Given the description of an element on the screen output the (x, y) to click on. 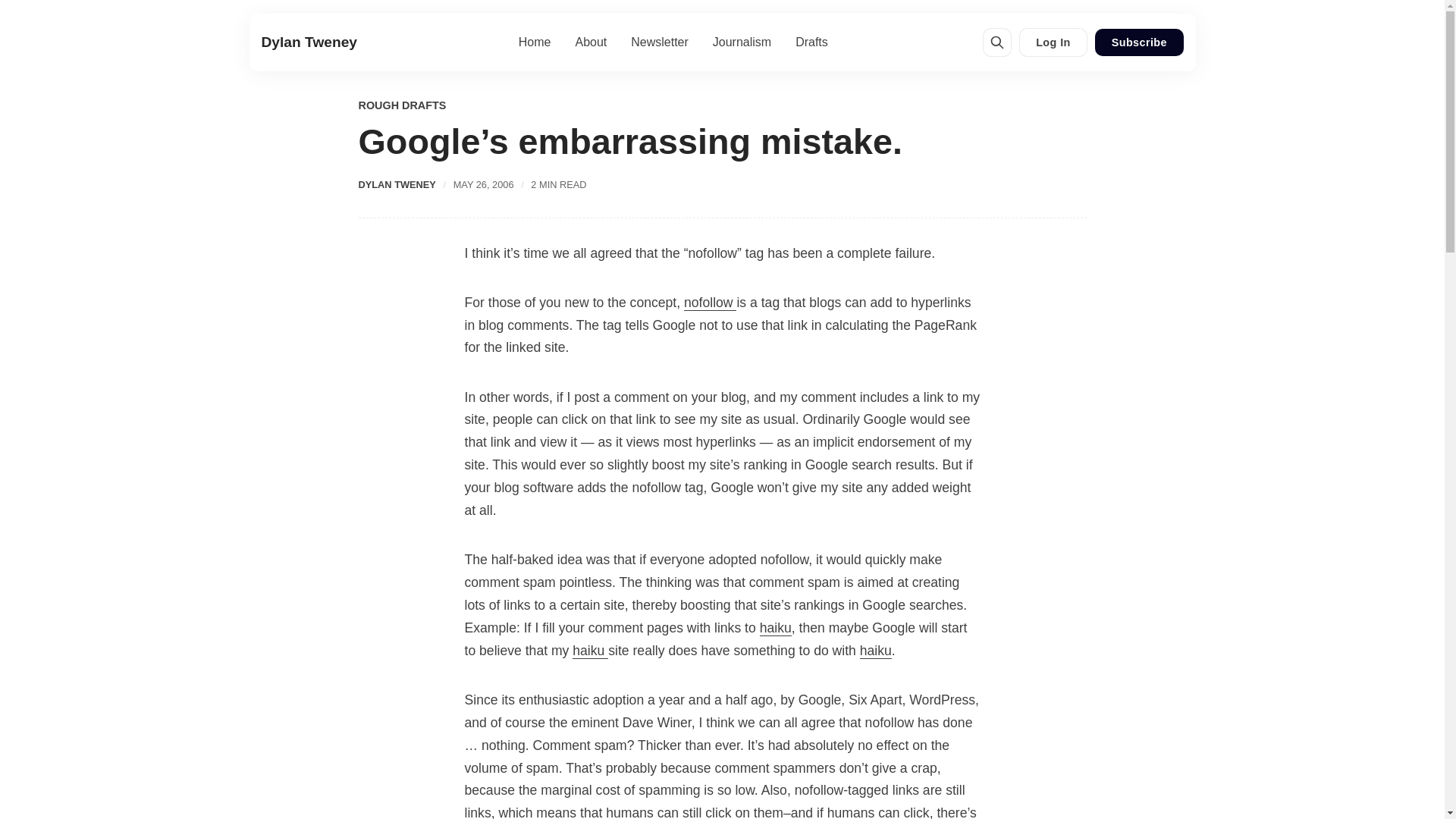
DYLAN TWENEY (396, 184)
Drafts (811, 42)
Newsletter (659, 42)
haiku (776, 627)
haiku (875, 650)
Home (534, 42)
Journalism (741, 42)
Dylan Tweney (308, 42)
ROUGH DRAFTS (401, 105)
Subscribe (1138, 42)
Search (997, 42)
About (590, 42)
haiku (590, 650)
nofollow (710, 302)
Log In (1053, 42)
